Given the description of an element on the screen output the (x, y) to click on. 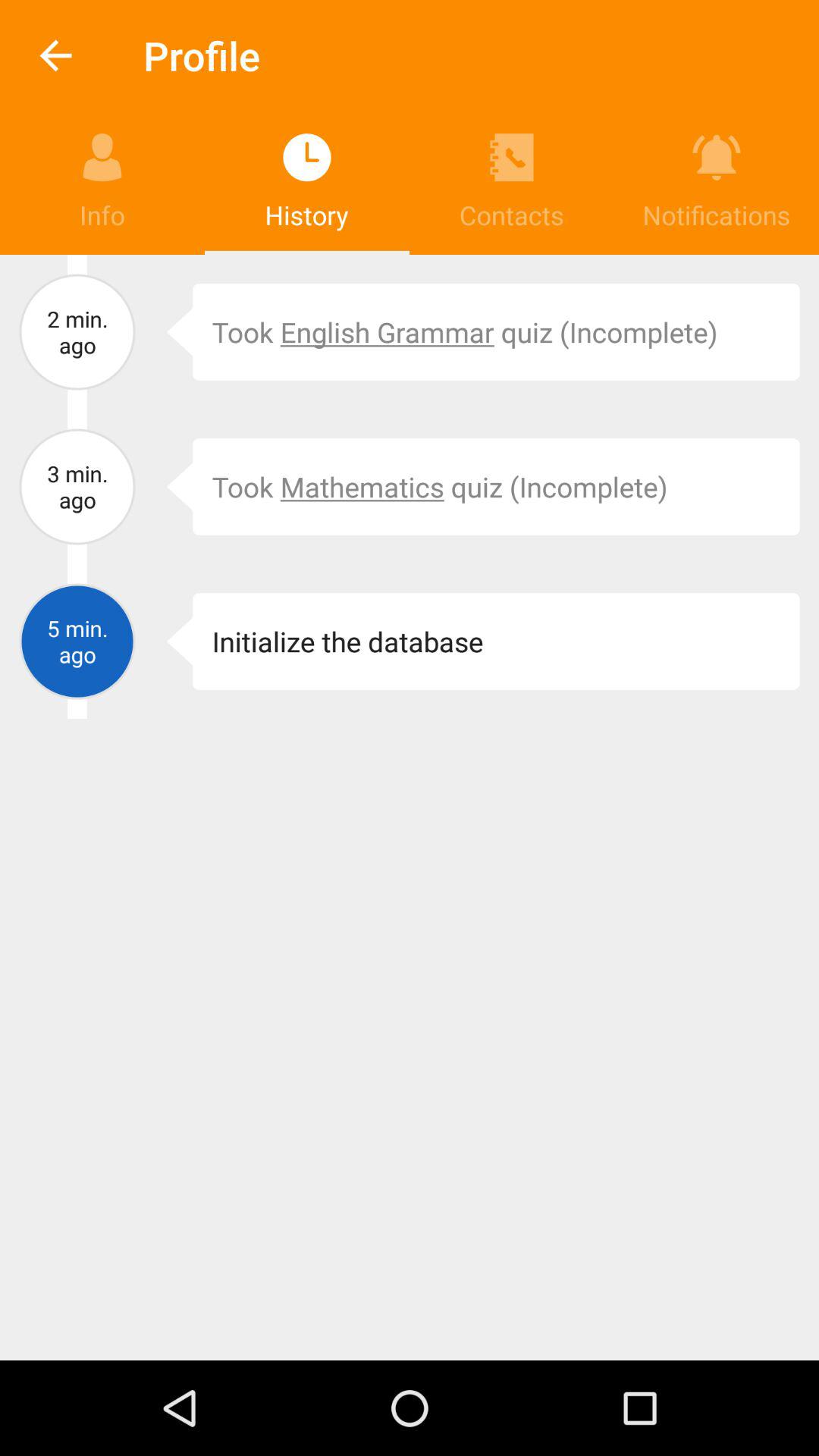
choose app next to 2 min. ago (168, 332)
